Given the description of an element on the screen output the (x, y) to click on. 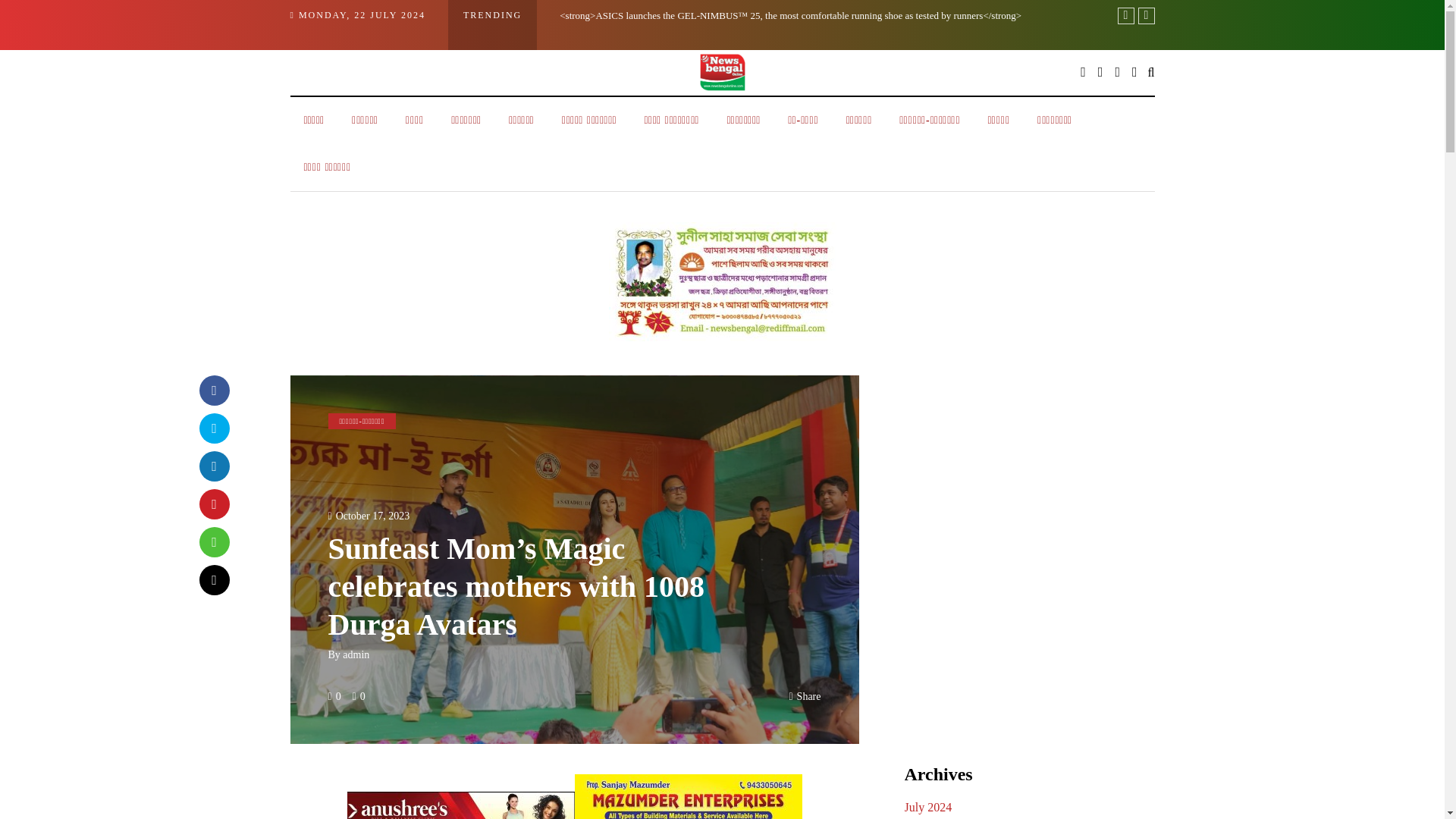
Posts by admin (355, 654)
Tweet this (213, 427)
Share to WhatsApp (213, 541)
Share to Telegram (213, 579)
Share with Facebook (213, 389)
Share with LinkedIn (213, 465)
Pin this (213, 503)
